Given the description of an element on the screen output the (x, y) to click on. 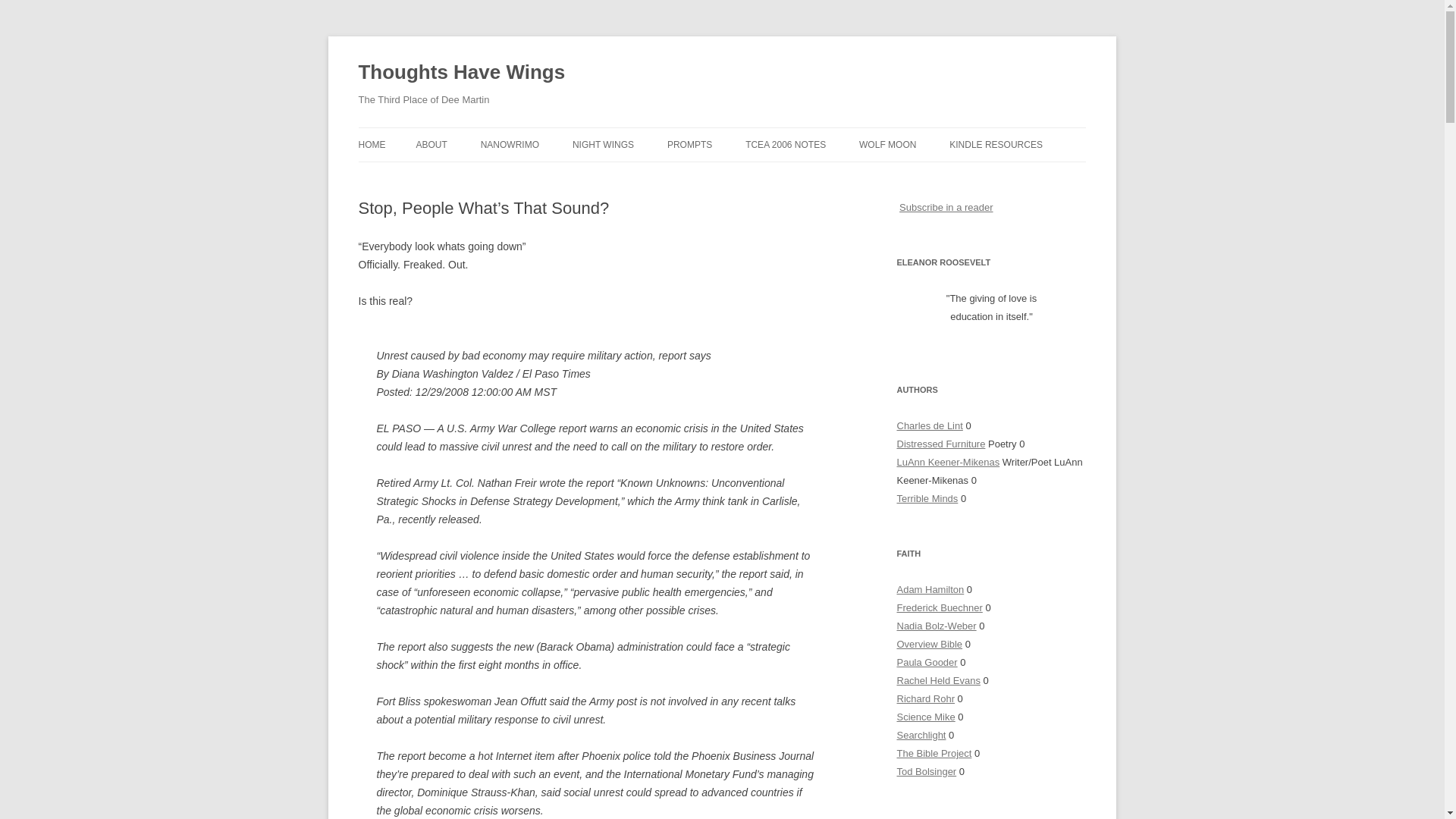
Charles de Lint (929, 425)
Distressed Furniture (940, 443)
PROMPTS (688, 144)
Terrible Minds (927, 498)
NANOWRIMO (509, 144)
Frederick Buechner (938, 607)
Tod Bolsinger (926, 771)
The Bible Project (933, 753)
Overview Bible (929, 644)
WOLF MOON (887, 144)
